Given the description of an element on the screen output the (x, y) to click on. 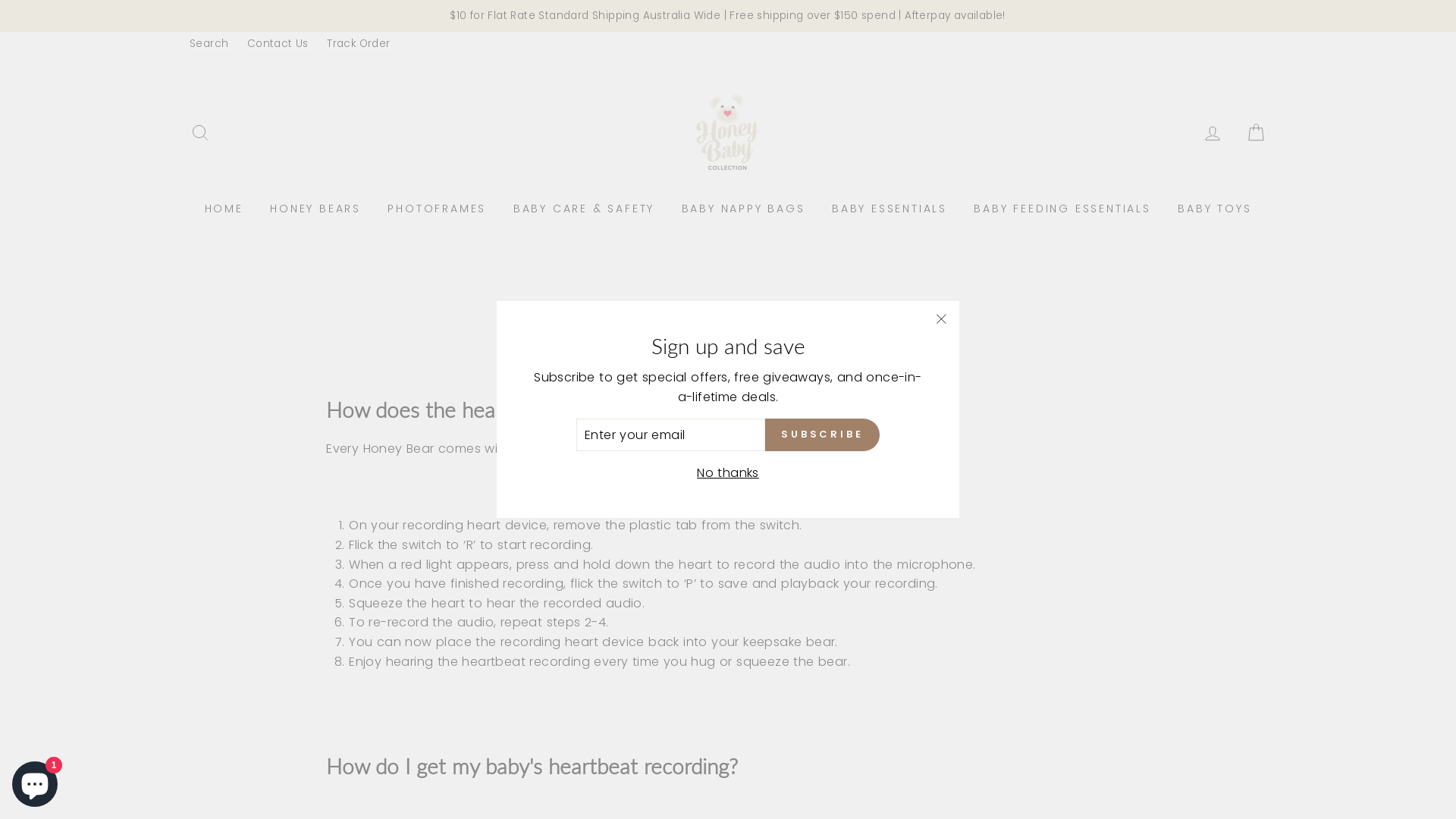
Track Order Element type: text (358, 43)
Contact Us Element type: text (277, 43)
Search Element type: text (208, 43)
BABY TOYS Element type: text (1214, 208)
SUBSCRIBE Element type: text (822, 434)
"Close (esc)" Element type: text (940, 319)
BABY CARE & SAFETY Element type: text (583, 208)
BABY NAPPY BAGS Element type: text (743, 208)
Skip to content Element type: text (0, 0)
BABY FEEDING ESSENTIALS Element type: text (1061, 208)
SEARCH Element type: text (199, 132)
Shopify online store chat Element type: hover (34, 780)
CART Element type: text (1255, 132)
HONEY BEARS Element type: text (315, 208)
LOG IN Element type: text (1212, 132)
HOME Element type: text (223, 208)
No thanks Element type: text (727, 472)
BABY ESSENTIALS Element type: text (889, 208)
PHOTOFRAMES Element type: text (436, 208)
